Given the description of an element on the screen output the (x, y) to click on. 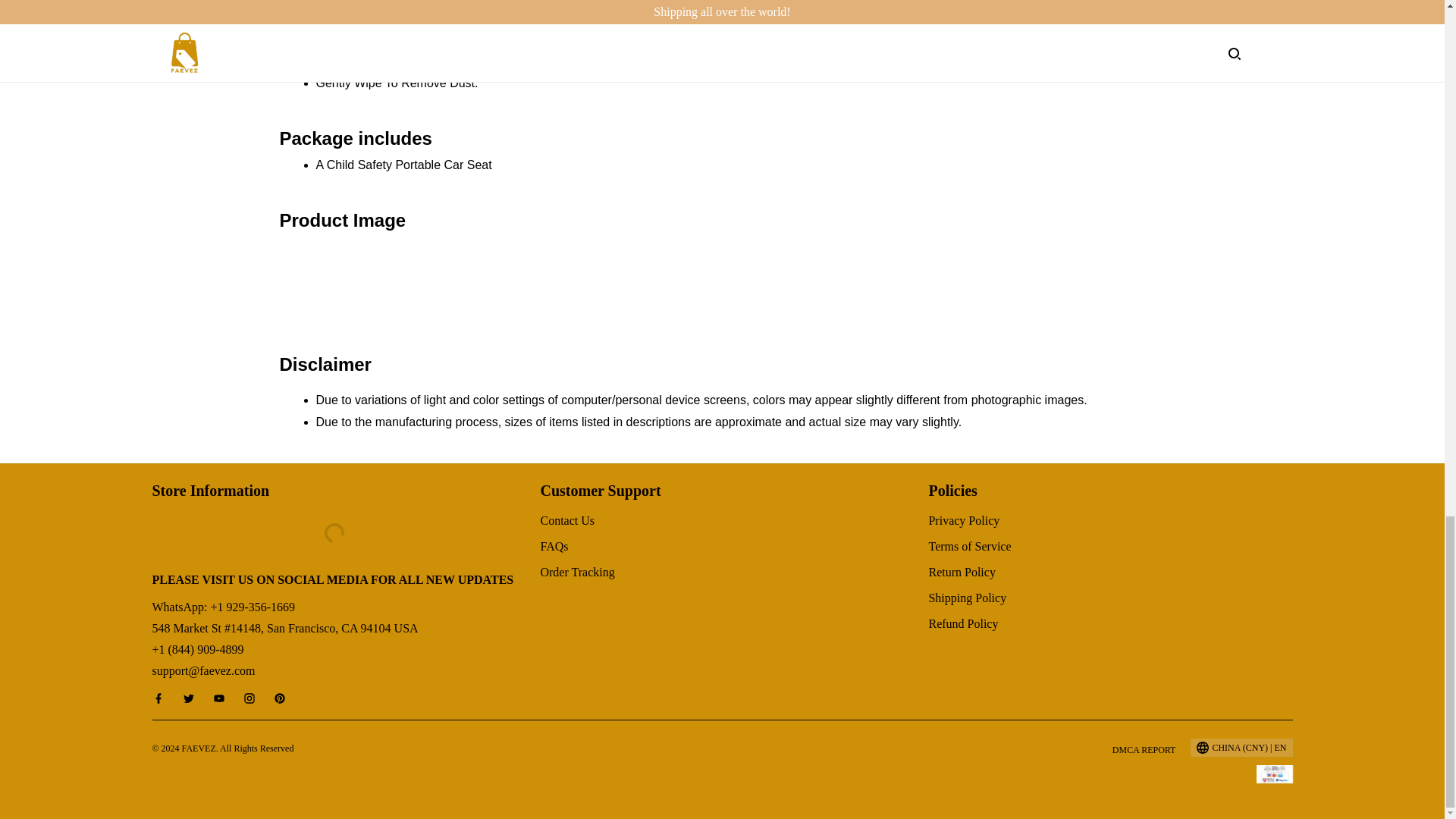
Shipping Policy (967, 597)
DMCA REPORT (1144, 749)
Terms of Service (969, 545)
Order Tracking (577, 571)
Privacy Policy (963, 520)
Return Policy (961, 571)
FAQs (553, 545)
Contact Us (567, 520)
Refund Policy (962, 623)
